Given the description of an element on the screen output the (x, y) to click on. 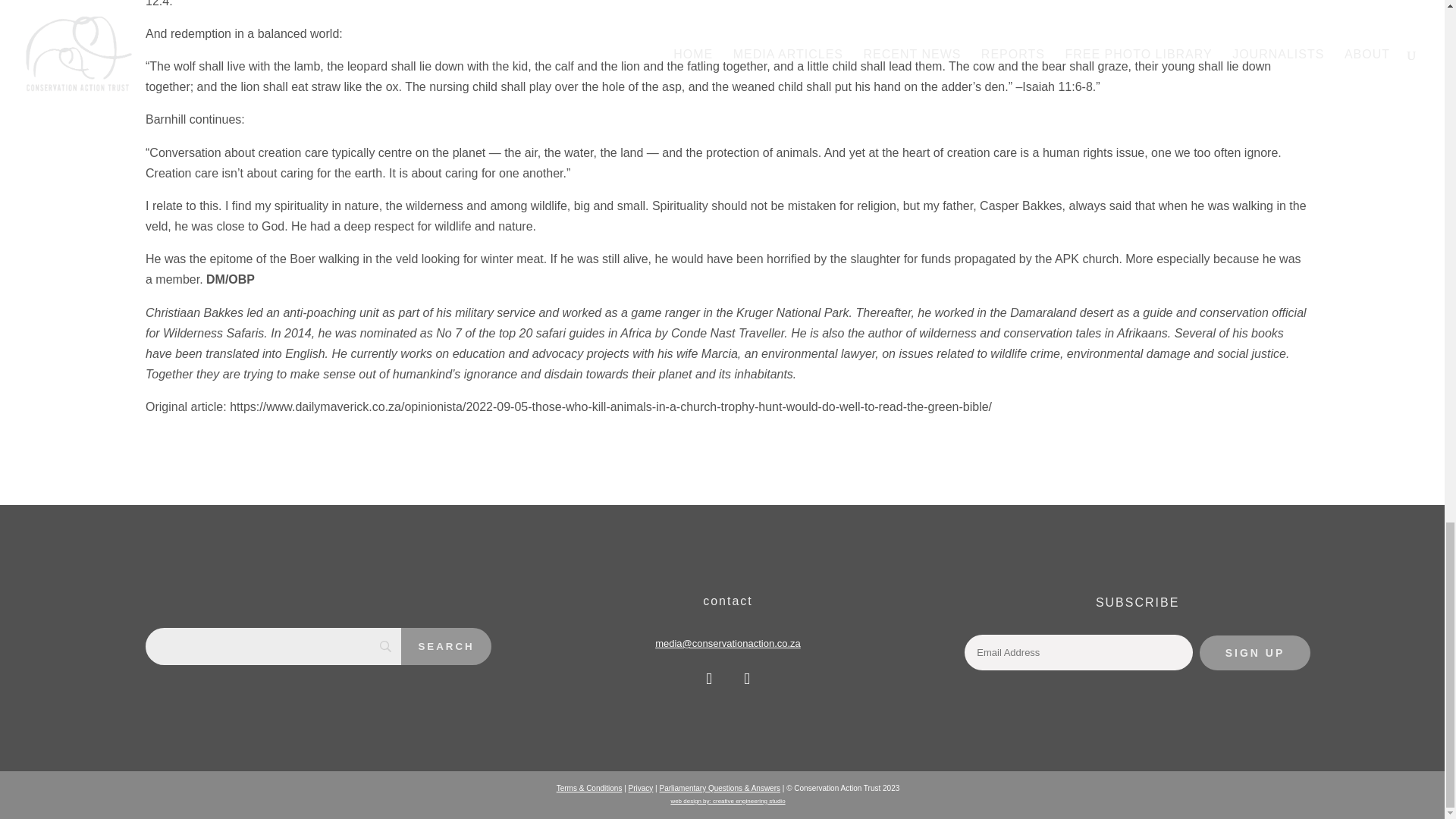
Search (445, 646)
Search (445, 646)
Sign Up (1254, 652)
Sign Up (1254, 652)
web design by: creative engineering studio (726, 800)
Search (445, 646)
Privacy (640, 787)
Follow on X (746, 678)
Follow on Facebook (709, 678)
